Given the description of an element on the screen output the (x, y) to click on. 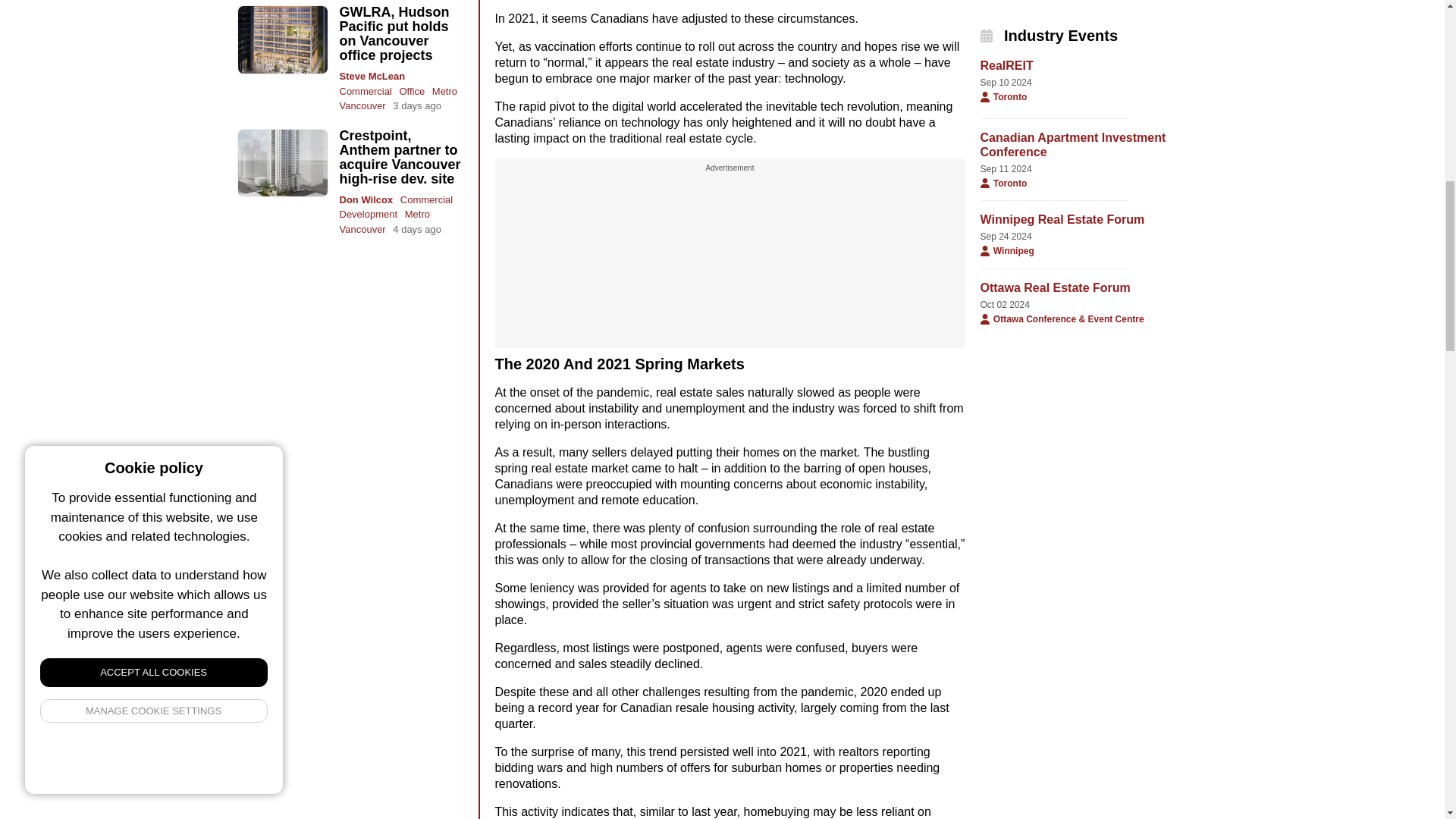
GWLRA, Hudson Pacific put holds on Vancouver office projects (394, 33)
GWLRA, Hudson Pacific put holds on Vancouver office projects (281, 39)
